Given the description of an element on the screen output the (x, y) to click on. 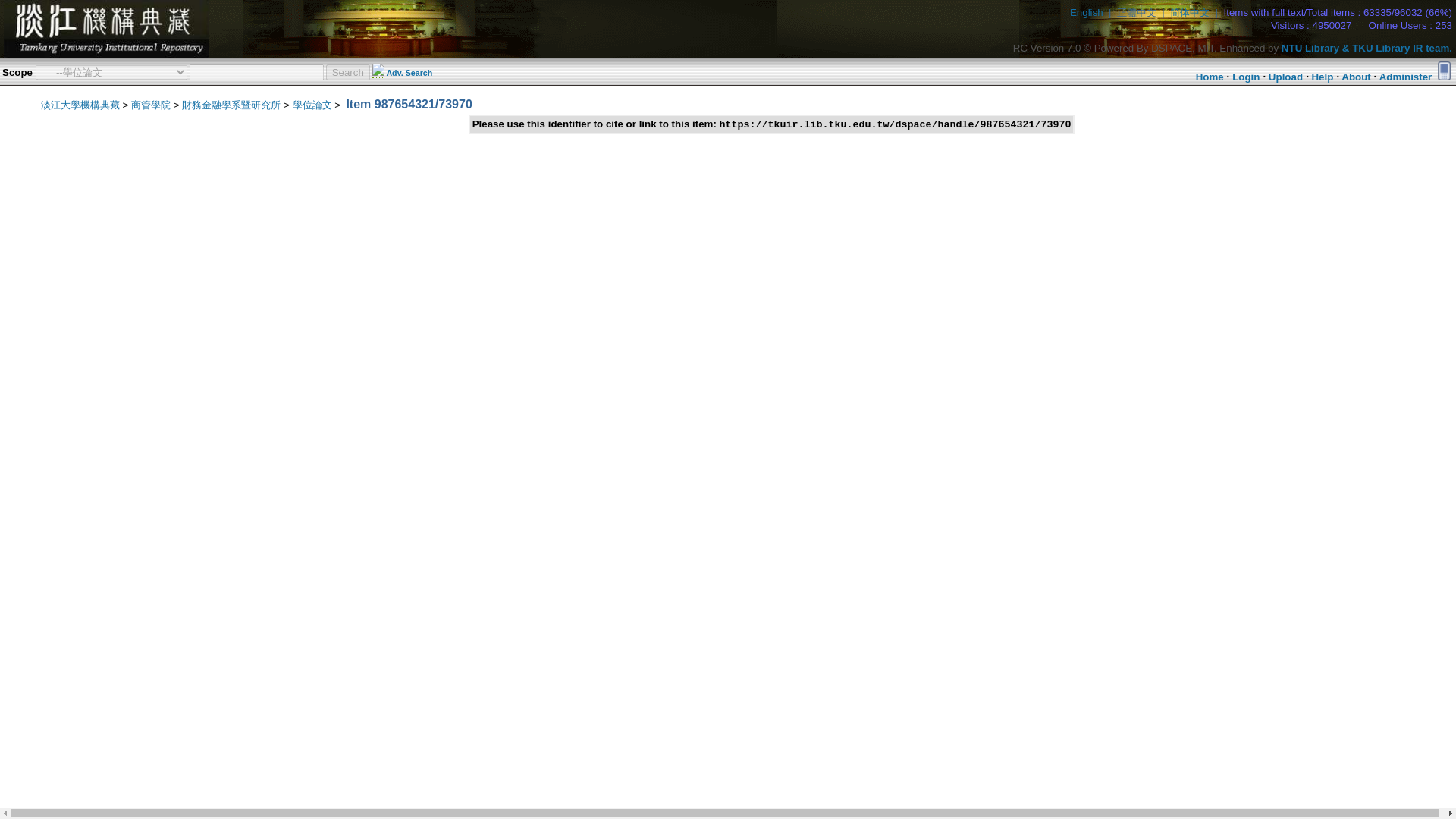
English (1087, 12)
Search (347, 71)
About (1355, 76)
Adv. Search (408, 71)
Upload (1285, 76)
Administer (1405, 76)
Goto mobile version (1443, 69)
Help (1322, 76)
Login (1245, 76)
Search (347, 71)
Home (1209, 76)
